Given the description of an element on the screen output the (x, y) to click on. 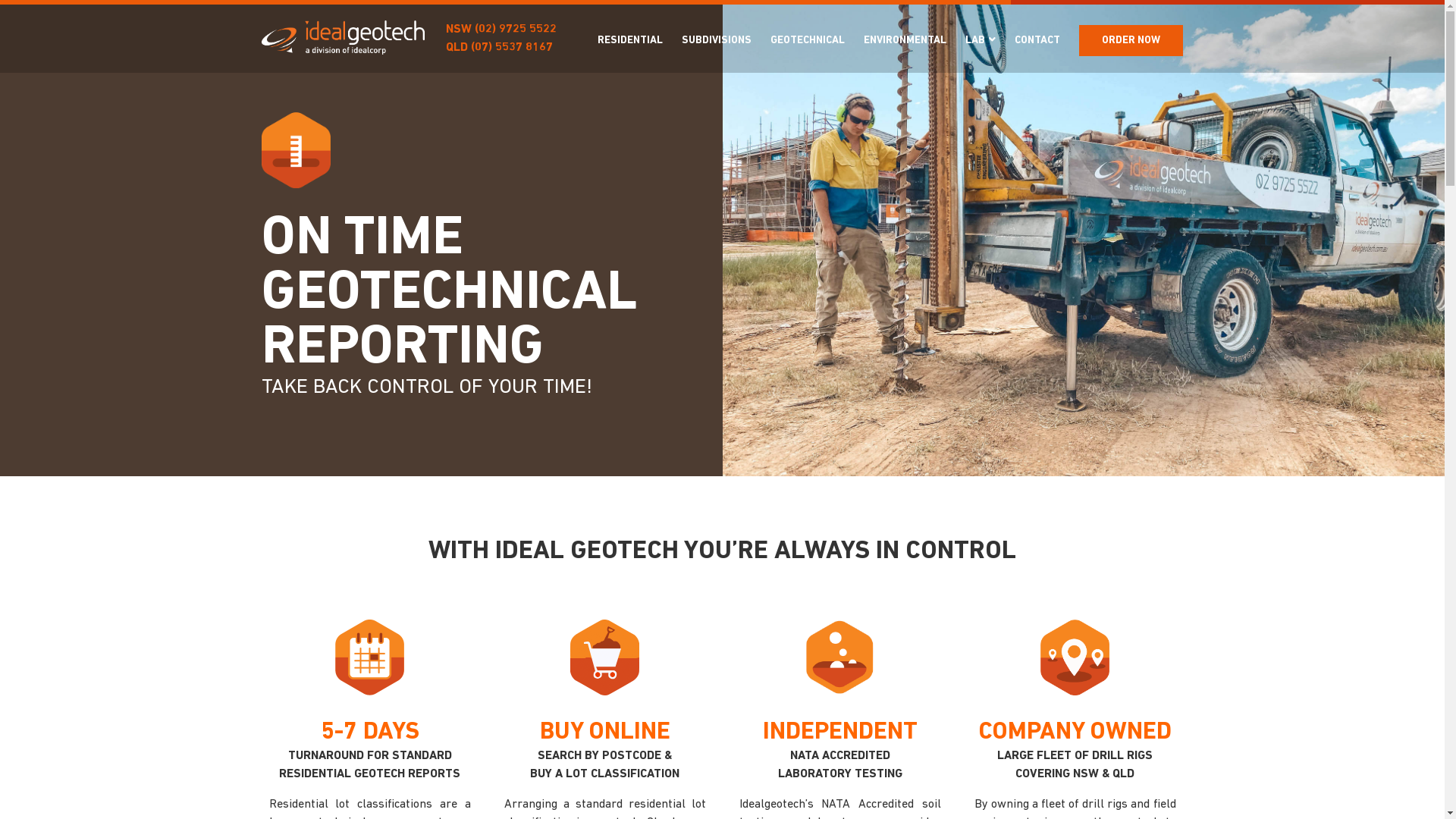
SUBDIVISIONS Element type: text (716, 39)
LAB Element type: text (980, 40)
Ideal Geotech Element type: hover (341, 37)
lab-tsting Element type: hover (839, 657)
CONTACT Element type: text (1037, 39)
GEOTECHNICAL Element type: text (807, 39)
Asset-4@2x Element type: hover (369, 657)
RESIDENTIAL Element type: text (629, 39)
Asset-5 Element type: hover (1074, 657)
icon0 Element type: hover (604, 657)
NSW (02) 9725 5522 Element type: text (500, 29)
QLD (07) 5537 8167 Element type: text (498, 47)
ORDER NOW Element type: text (1131, 39)
ENVIRONMENTAL Element type: text (904, 39)
